Given the description of an element on the screen output the (x, y) to click on. 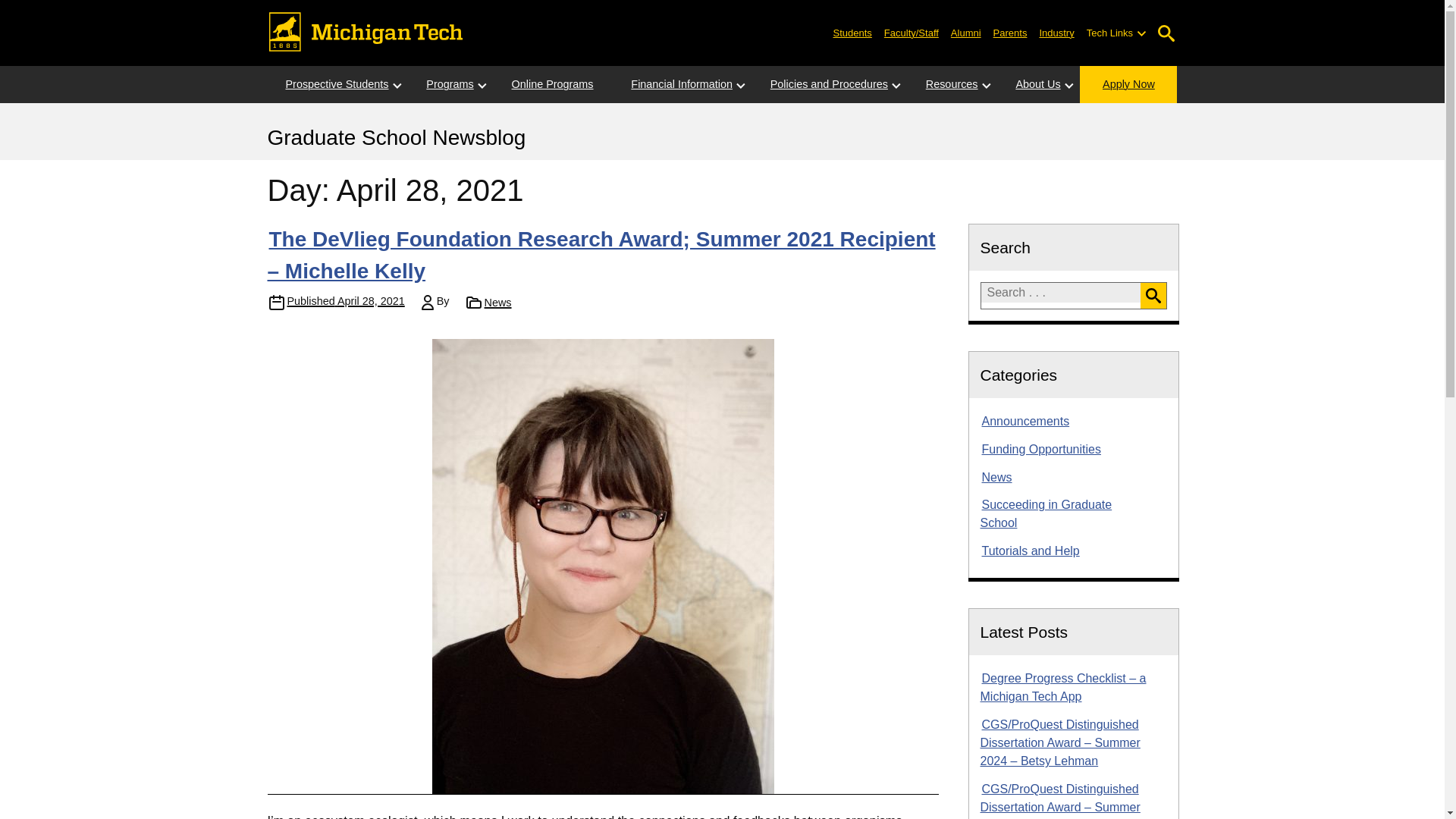
Online Programs (552, 84)
Financial Information (681, 84)
Programs (449, 84)
Parents (1010, 32)
Industry (1056, 32)
Prospective Students (336, 84)
Open Search (1166, 33)
Alumni (965, 32)
Students (852, 32)
